Given the description of an element on the screen output the (x, y) to click on. 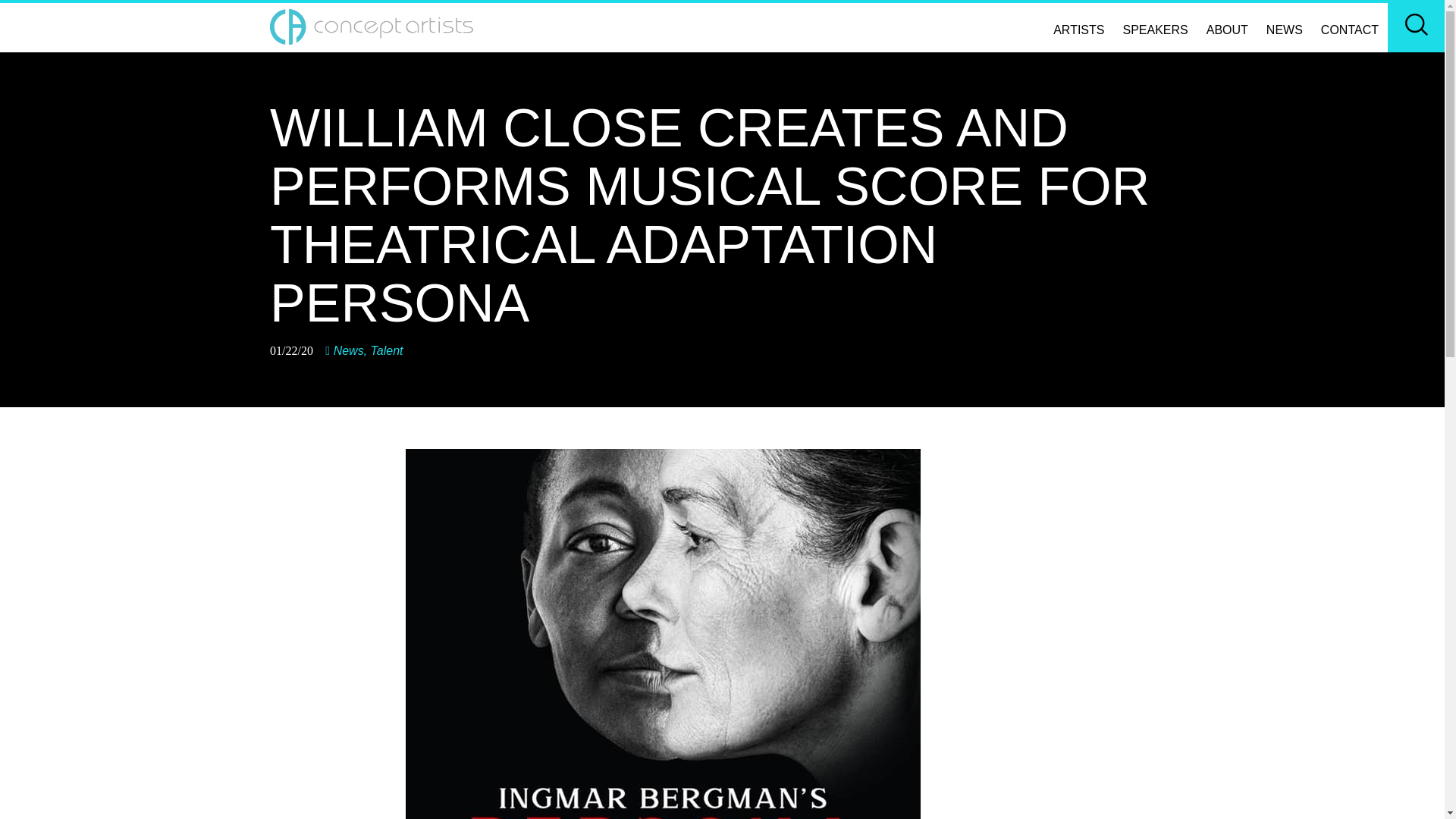
NEWS (1284, 30)
ABOUT (1226, 30)
News (348, 350)
ARTISTS (1078, 30)
CONTACT (1349, 30)
SPEAKERS (1154, 30)
Talent (387, 350)
